Given the description of an element on the screen output the (x, y) to click on. 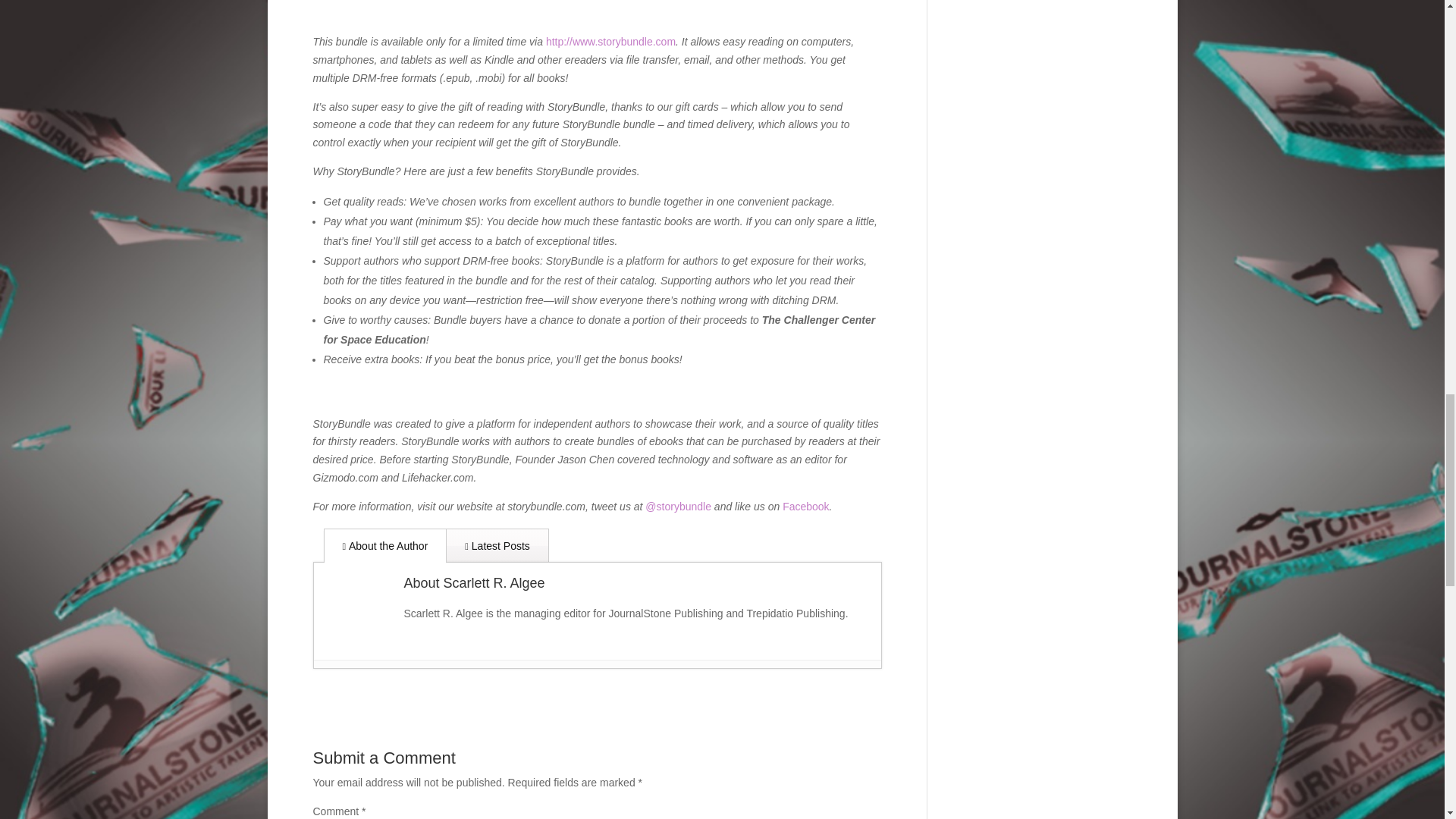
Latest Posts (496, 545)
About the Author (384, 545)
Facebook (805, 506)
